Given the description of an element on the screen output the (x, y) to click on. 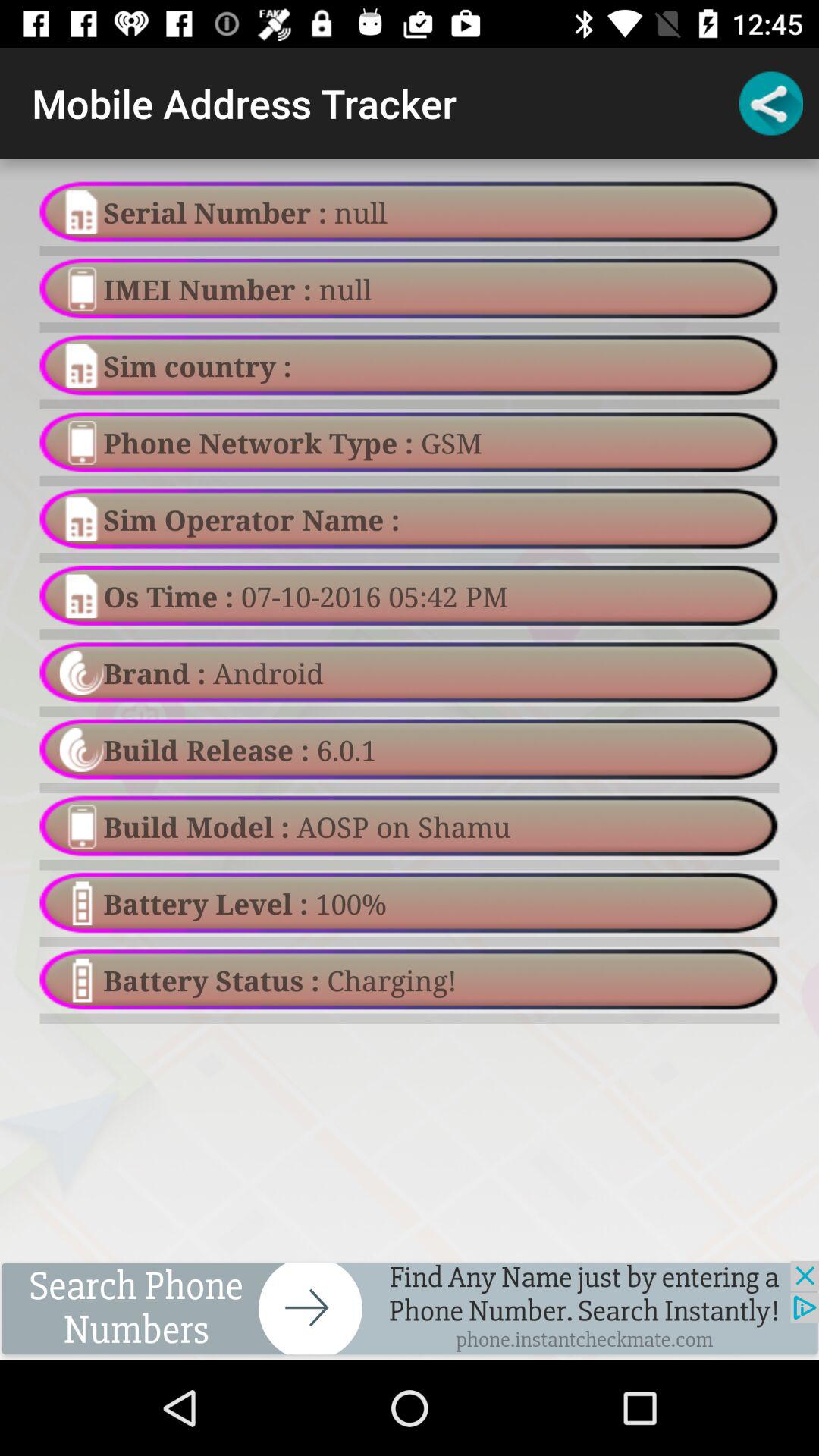
turn on and off app (409, 1310)
